Given the description of an element on the screen output the (x, y) to click on. 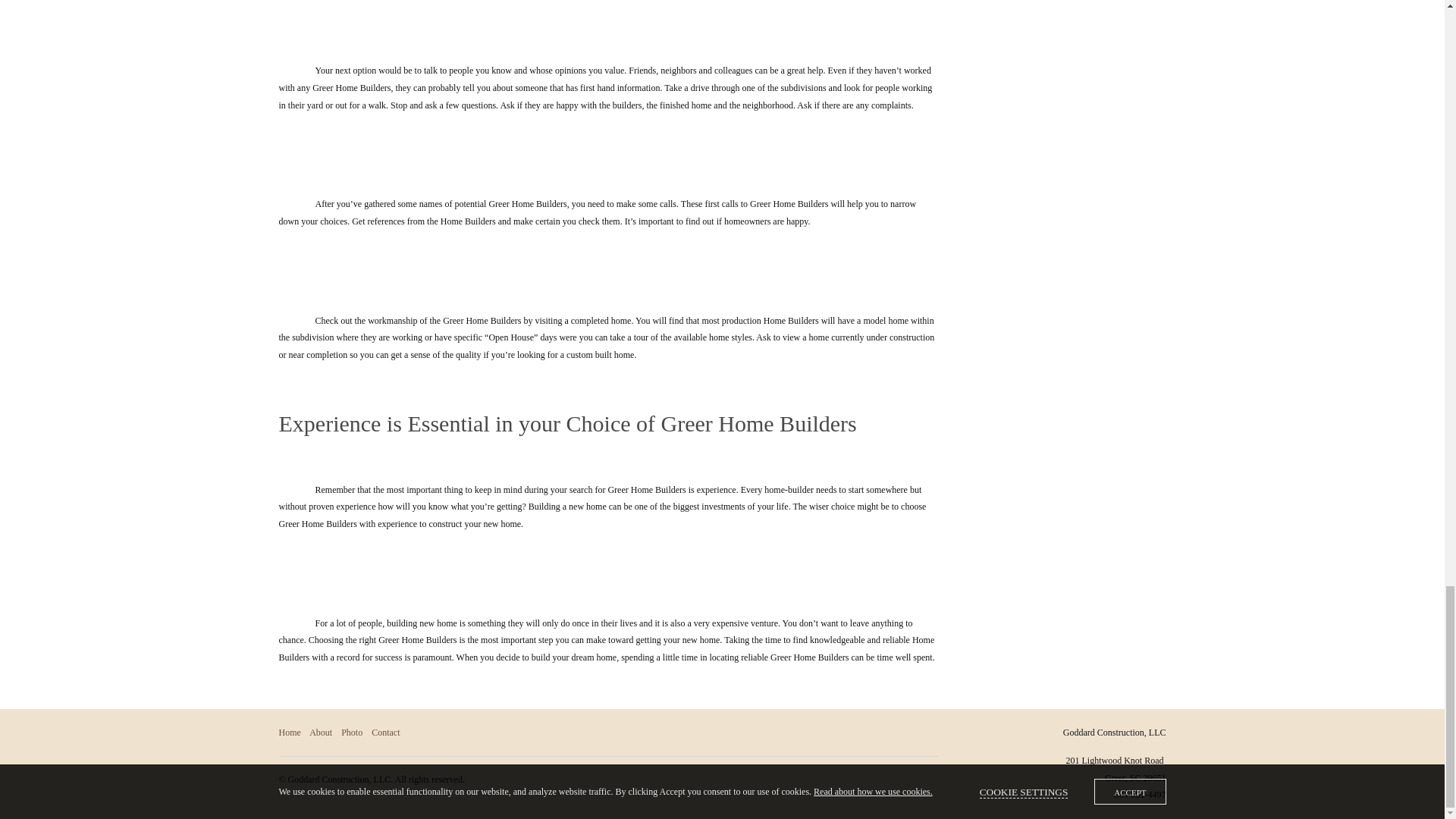
About (319, 732)
Contact (384, 732)
Photo (351, 732)
Home (290, 732)
